Given the description of an element on the screen output the (x, y) to click on. 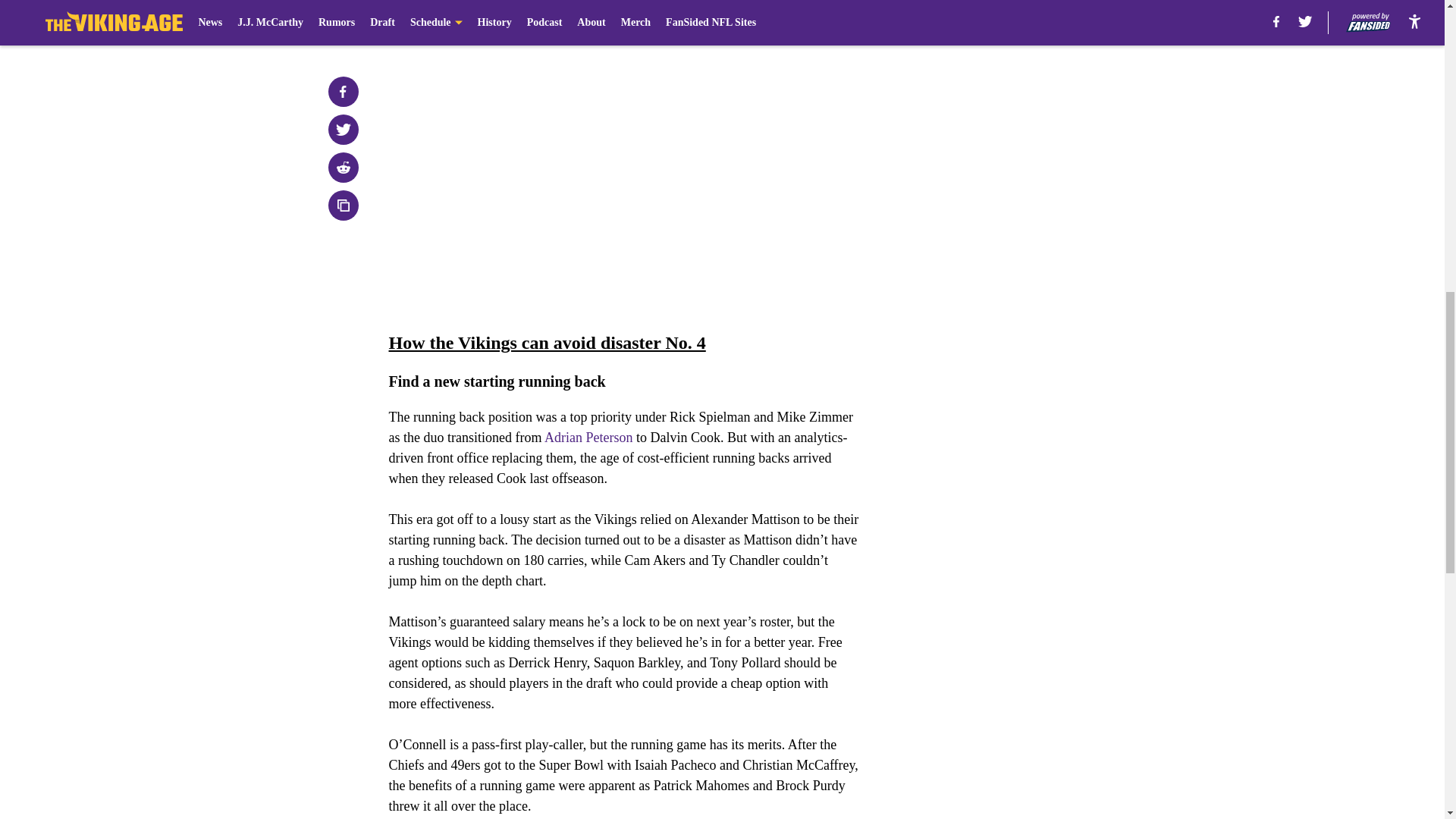
Adrian Peterson (587, 437)
Next (813, 20)
Prev (433, 20)
